Given the description of an element on the screen output the (x, y) to click on. 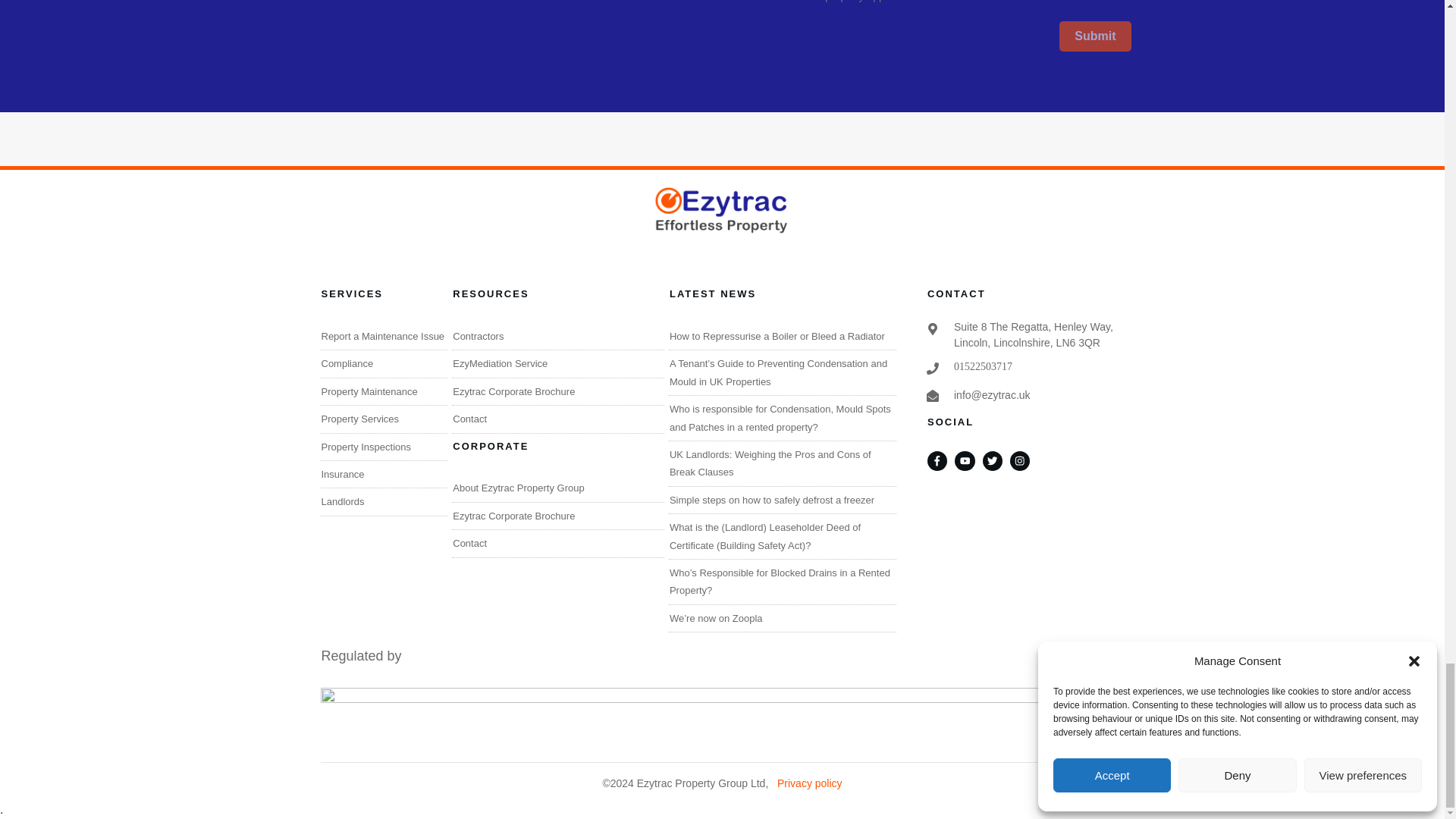
Property Maintenance (369, 391)
Ezytrac Corporate Brochure (513, 391)
Property Inspections (366, 446)
Property Services (359, 419)
Submit (1095, 36)
Contractors (477, 336)
Report a Maintenance Issue (383, 336)
Landlords (343, 501)
Contact (469, 419)
EzyMediation Service (499, 363)
Compliance (347, 363)
Insurance (343, 473)
